Given the description of an element on the screen output the (x, y) to click on. 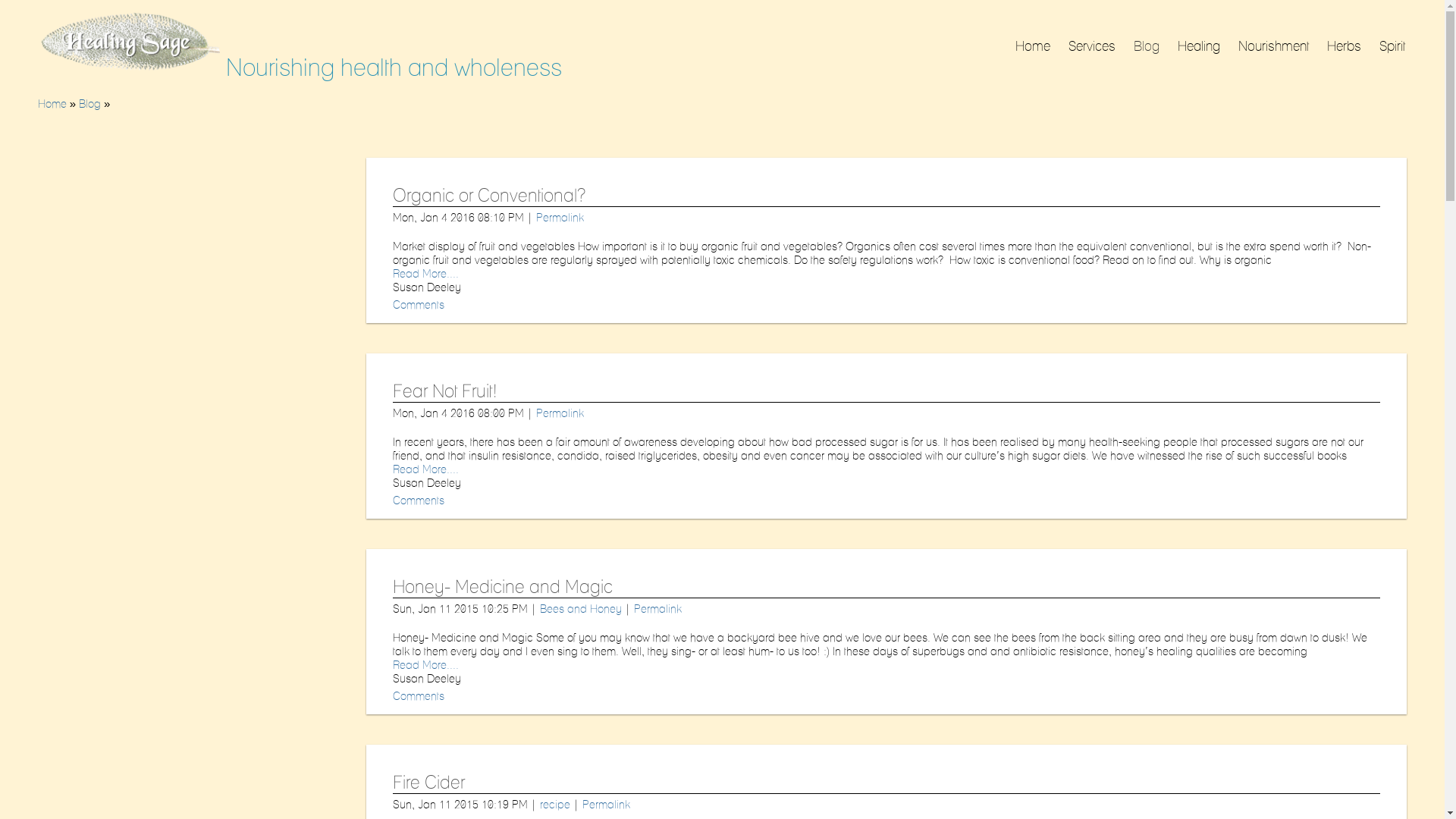
Healing Element type: text (1198, 46)
Read More.... Element type: text (425, 273)
Nourishment Element type: text (1273, 46)
Spirit Element type: text (1392, 46)
Permalink Element type: text (559, 217)
Permalink Element type: text (559, 413)
recipe Element type: text (554, 804)
Comments Element type: text (418, 500)
Permalink Element type: text (657, 608)
Comments Element type: text (418, 695)
Read More.... Element type: text (425, 469)
Read More.... Element type: text (425, 664)
Permalink Element type: text (606, 804)
Bees and Honey Element type: text (580, 608)
Home Element type: text (51, 103)
Comments Element type: text (418, 304)
Blog Element type: text (89, 103)
Services Element type: text (1091, 46)
Blog Element type: text (1146, 46)
Home Element type: text (1032, 46)
Herbs Element type: text (1344, 46)
